Given the description of an element on the screen output the (x, y) to click on. 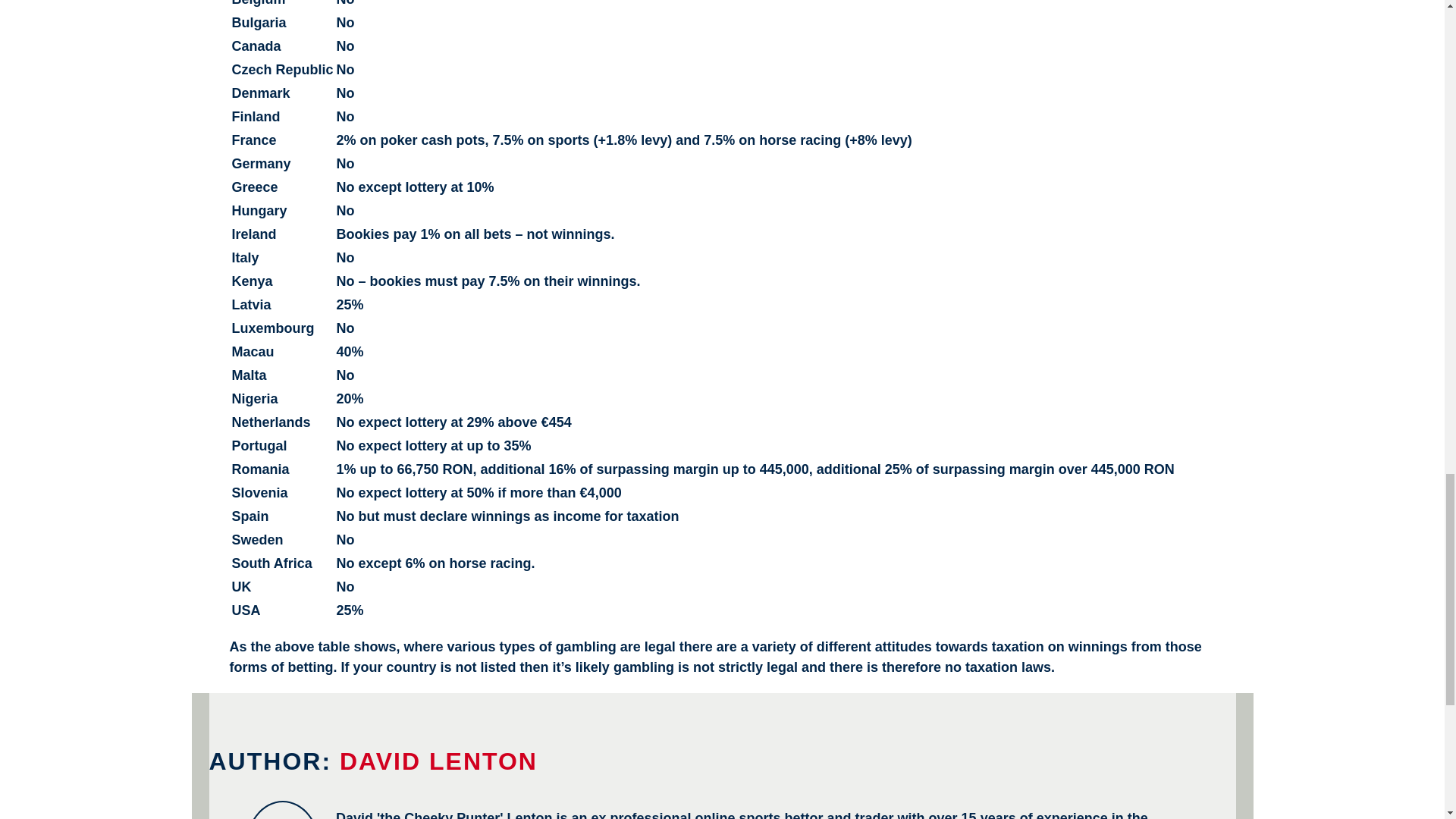
David Lenton (438, 760)
